Given the description of an element on the screen output the (x, y) to click on. 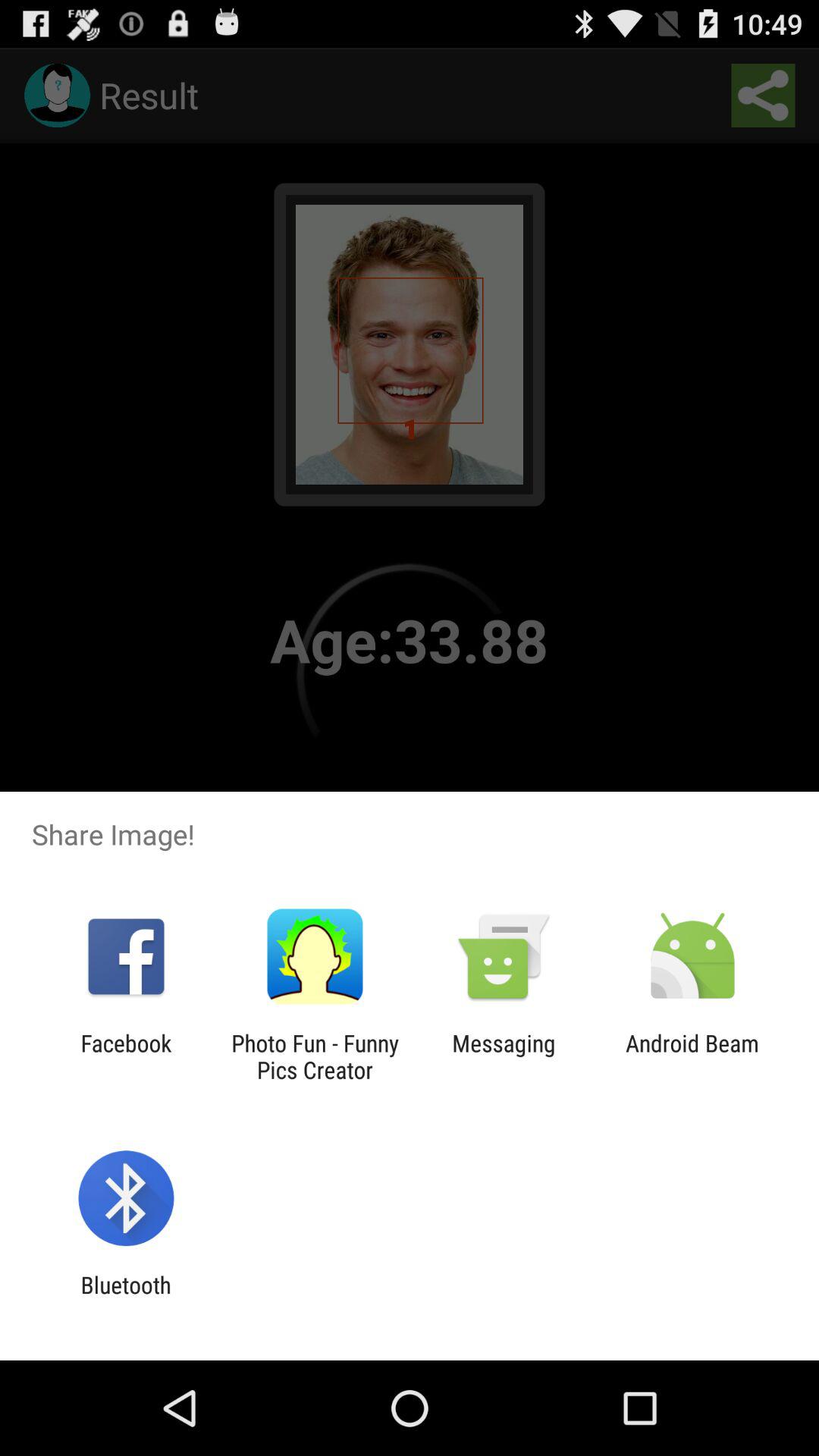
choose the app to the left of the android beam (503, 1056)
